Given the description of an element on the screen output the (x, y) to click on. 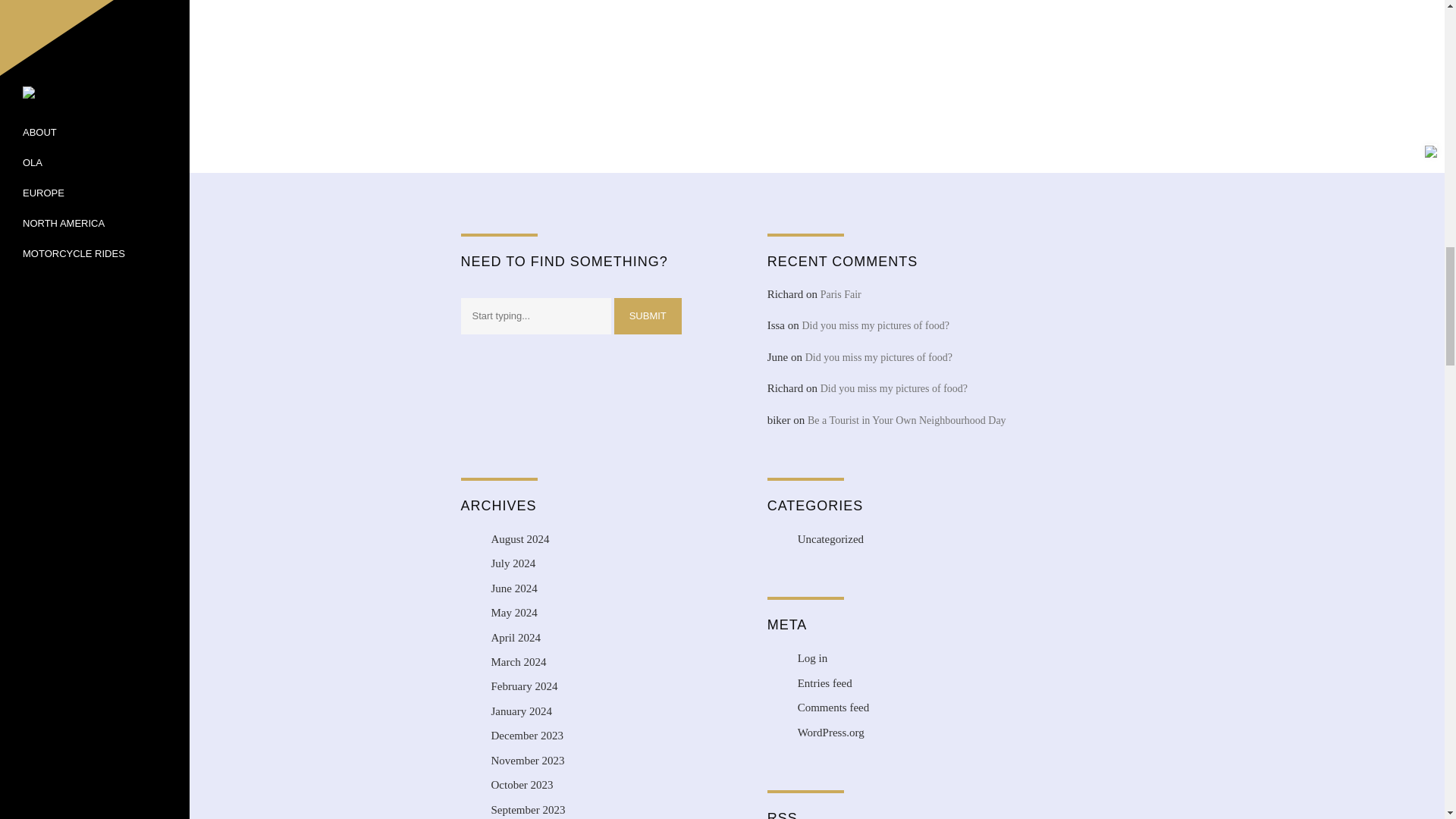
Did you miss my pictures of food? (894, 388)
July 2024 (513, 563)
August 2024 (521, 539)
June 2024 (514, 588)
Paris Fair (841, 294)
SUBMIT (647, 316)
Did you miss my pictures of food? (875, 325)
SUBMIT (647, 316)
Be a Tourist in Your Own Neighbourhood Day (907, 419)
Did you miss my pictures of food? (878, 357)
